Given the description of an element on the screen output the (x, y) to click on. 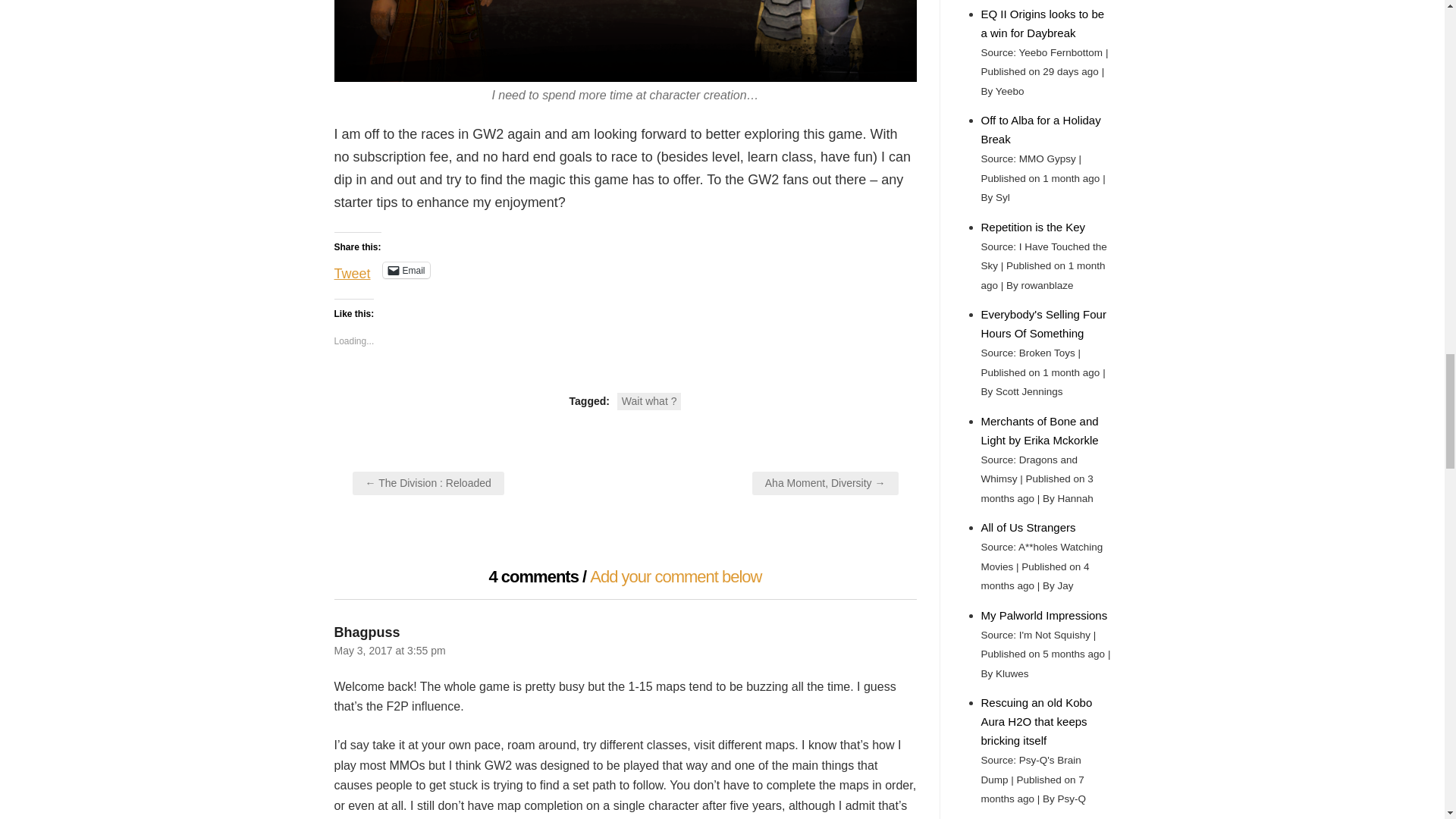
Wait what ? (649, 401)
May 3, 2017 at 3:55 pm (389, 650)
Add your comment below (675, 576)
Click to email a link to a friend (405, 270)
Tweet (351, 269)
Bhagpuss (365, 631)
Email (405, 270)
